Given the description of an element on the screen output the (x, y) to click on. 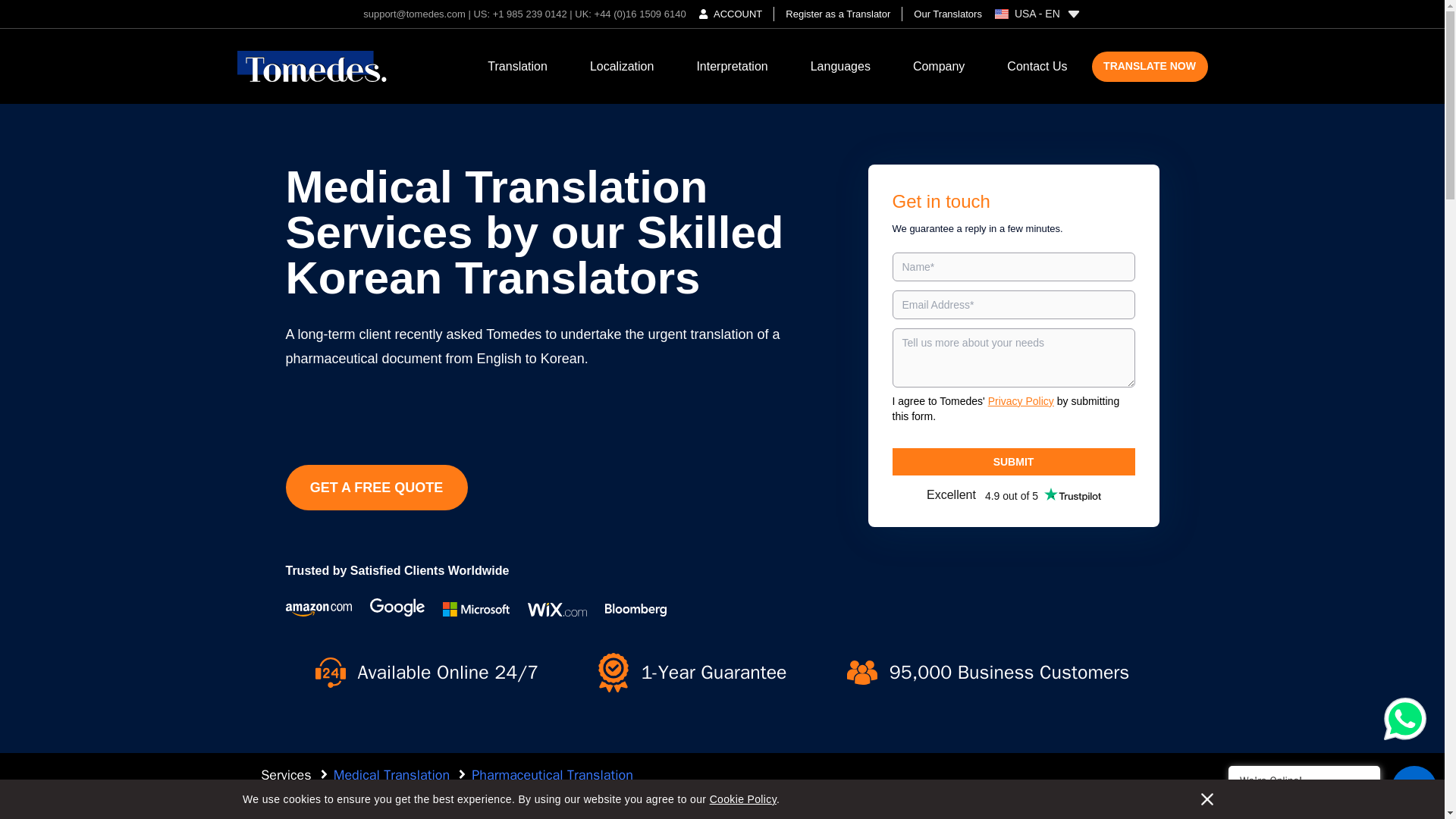
Register as a Translator (837, 14)
Our Translators (941, 14)
ACCOUNT (730, 14)
We're Online! (1304, 780)
Localization (621, 65)
Interpretation (731, 65)
How may I help you today? (1304, 796)
Customer reviews powered by Trustpilot (1012, 494)
Translation (517, 65)
